Given the description of an element on the screen output the (x, y) to click on. 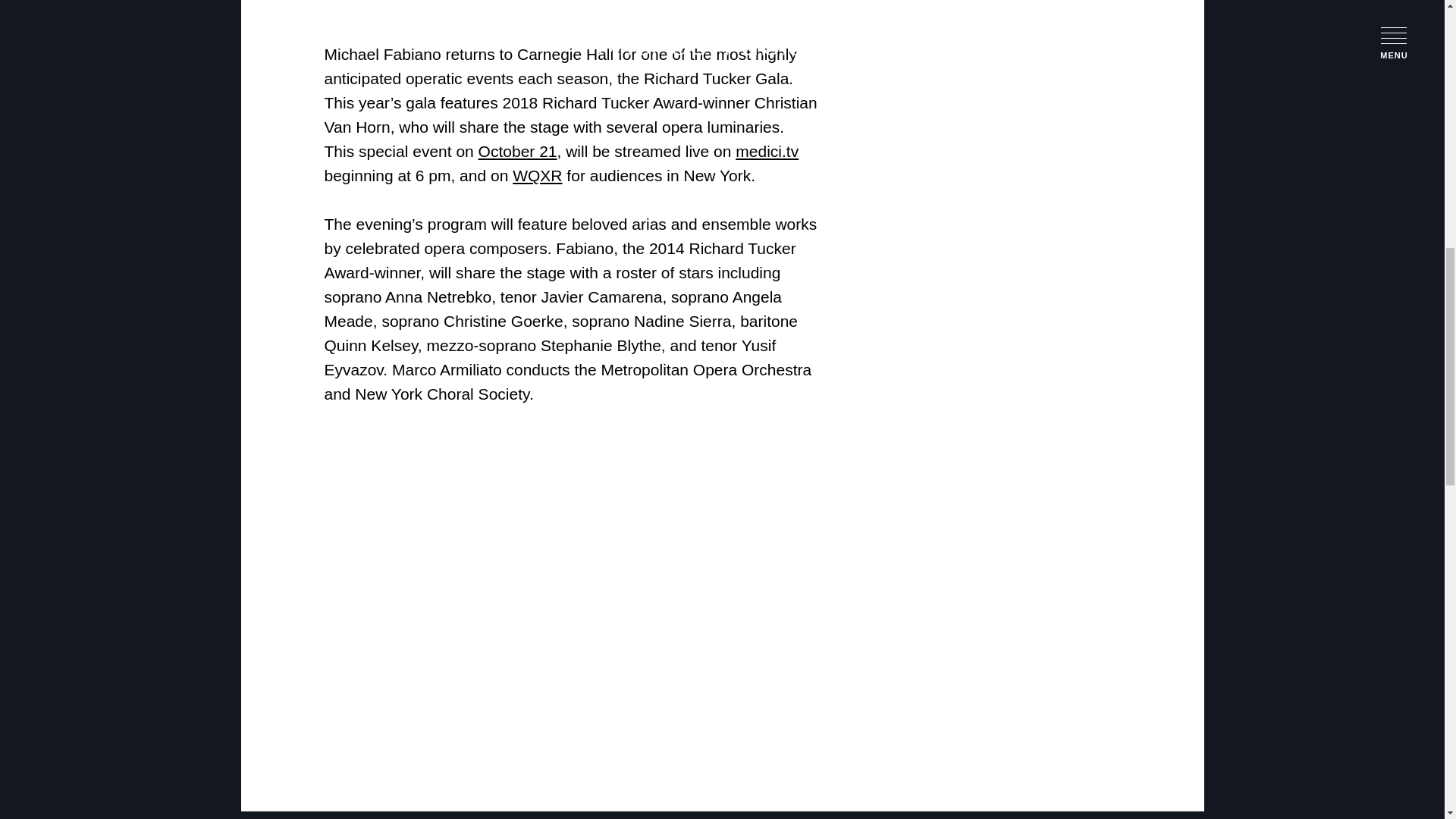
The Richard Tucker Opera Gala 2018 - Soon on medici.tv (513, 535)
medici.tv (766, 150)
October 21 (518, 150)
WQXR (537, 175)
